Given the description of an element on the screen output the (x, y) to click on. 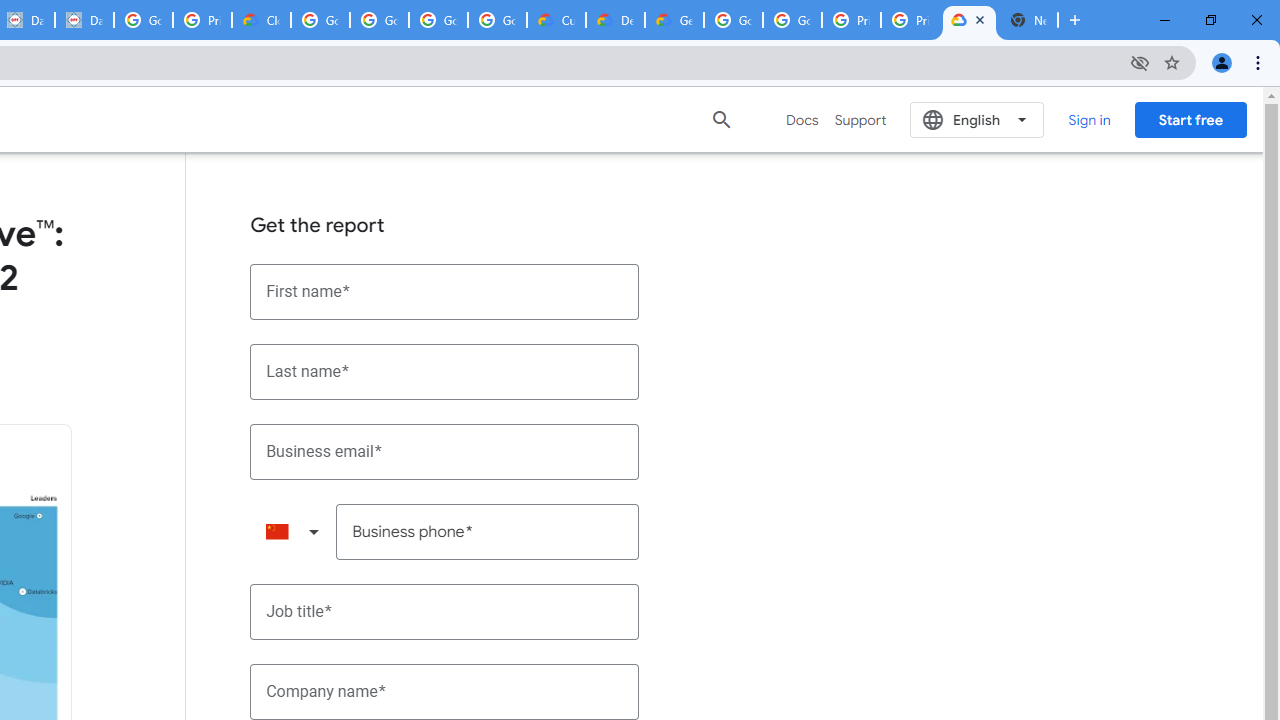
Business email* (445, 451)
Business phone* (488, 531)
Gemini for Business and Developers | Google Cloud (674, 20)
Customer Care | Google Cloud (556, 20)
Docs (802, 119)
